Given the description of an element on the screen output the (x, y) to click on. 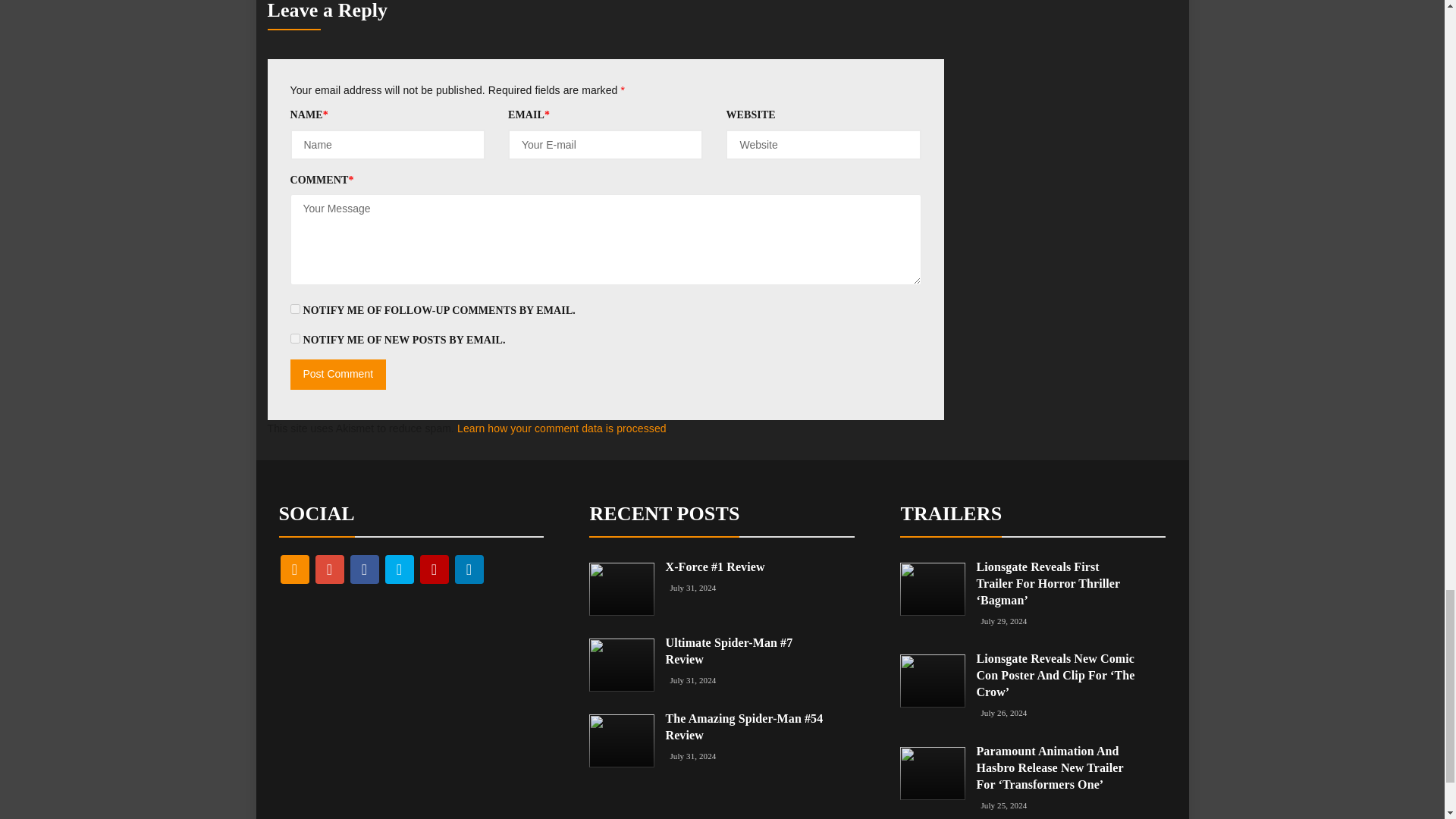
Post Comment (337, 374)
subscribe (294, 338)
subscribe (294, 308)
